Given the description of an element on the screen output the (x, y) to click on. 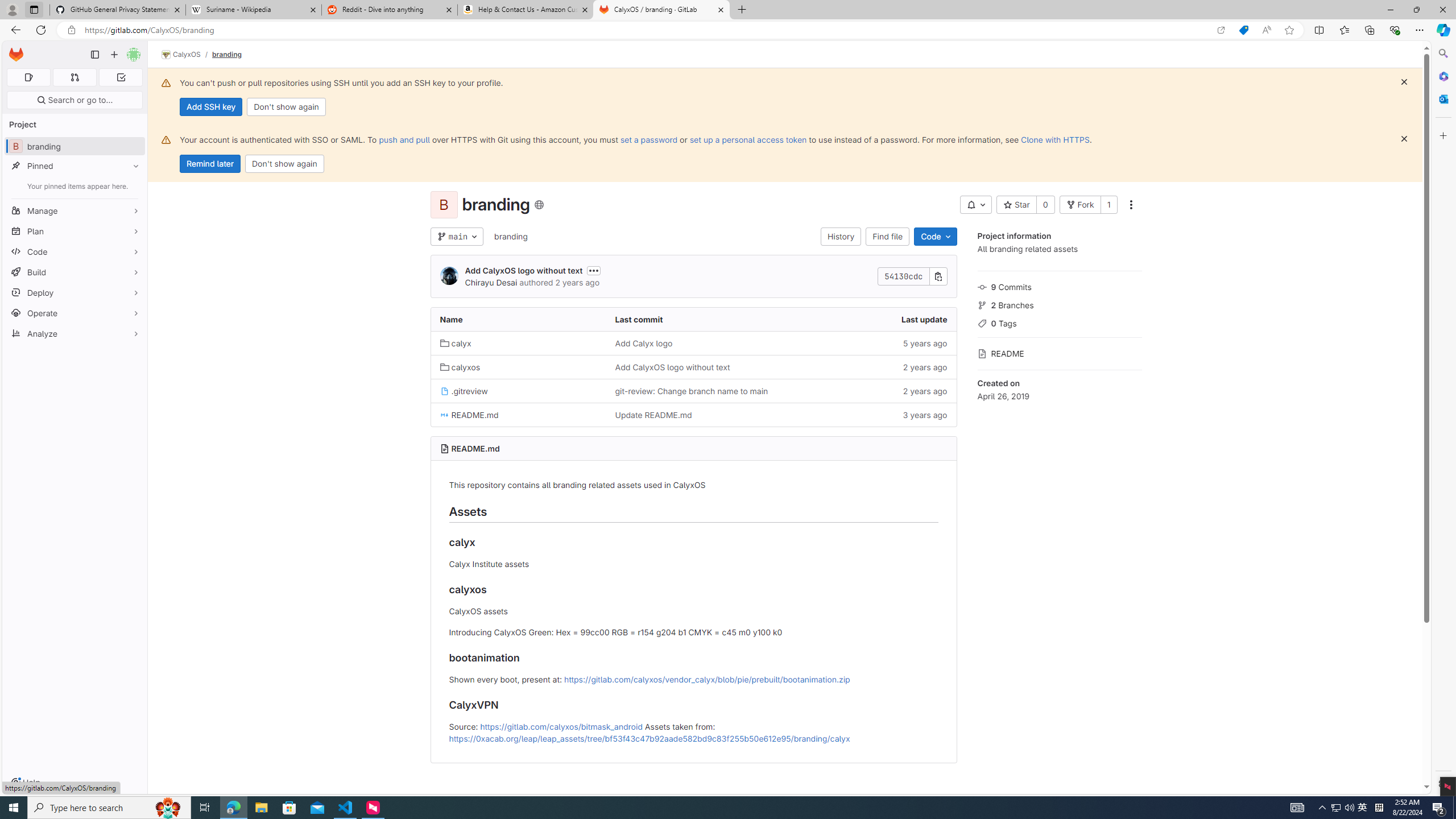
push and pull (403, 139)
Chirayu Desai's avatar (448, 275)
main (456, 236)
2 years ago (868, 390)
.gitreview (463, 390)
Chirayu Desai's avatar (448, 275)
Open in app (1220, 29)
.gitreview (517, 390)
Class: tree-item (693, 414)
README (1058, 352)
Pinned (74, 165)
